Given the description of an element on the screen output the (x, y) to click on. 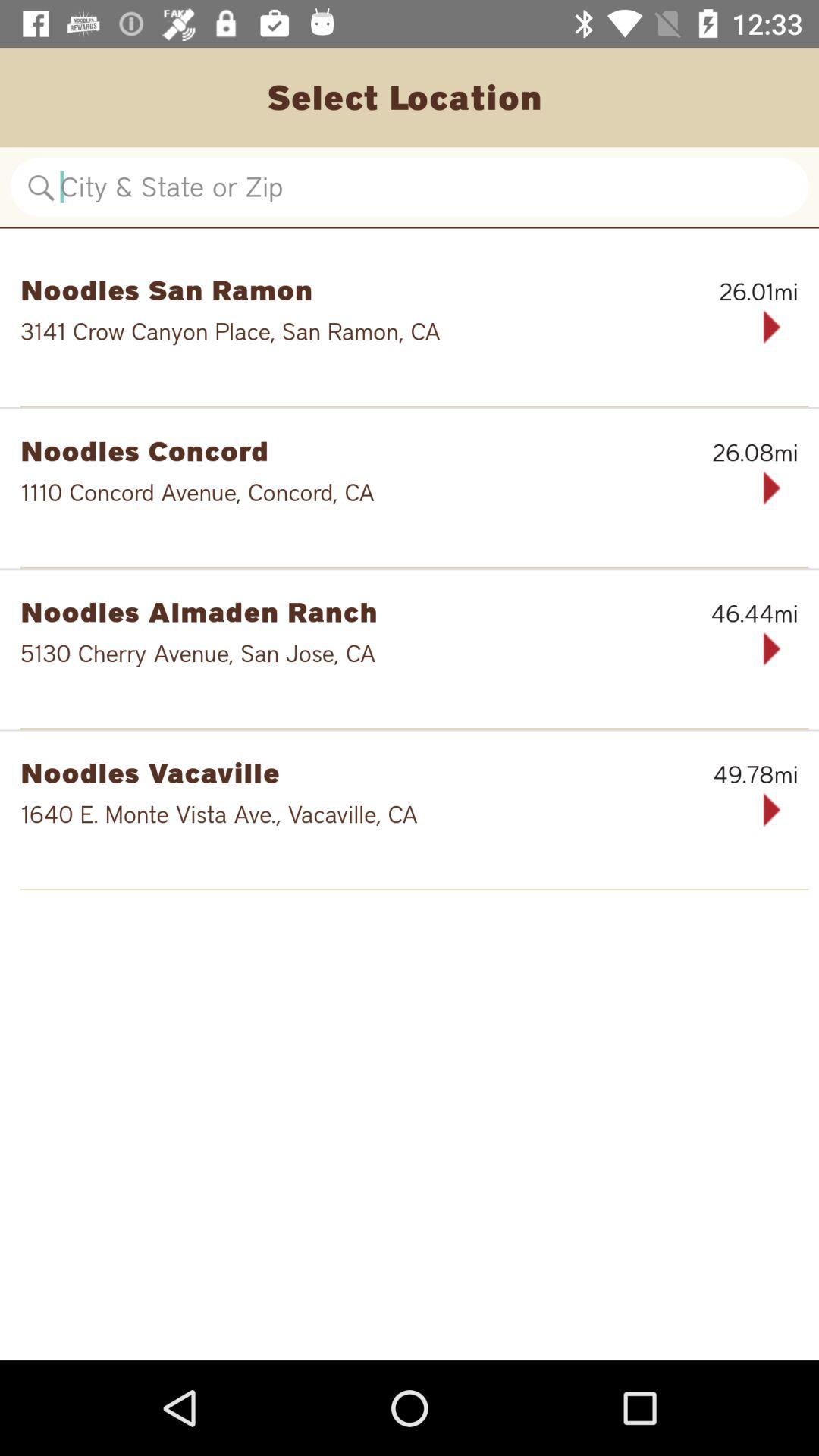
tap the icon above the noodles vacaville (414, 728)
